Given the description of an element on the screen output the (x, y) to click on. 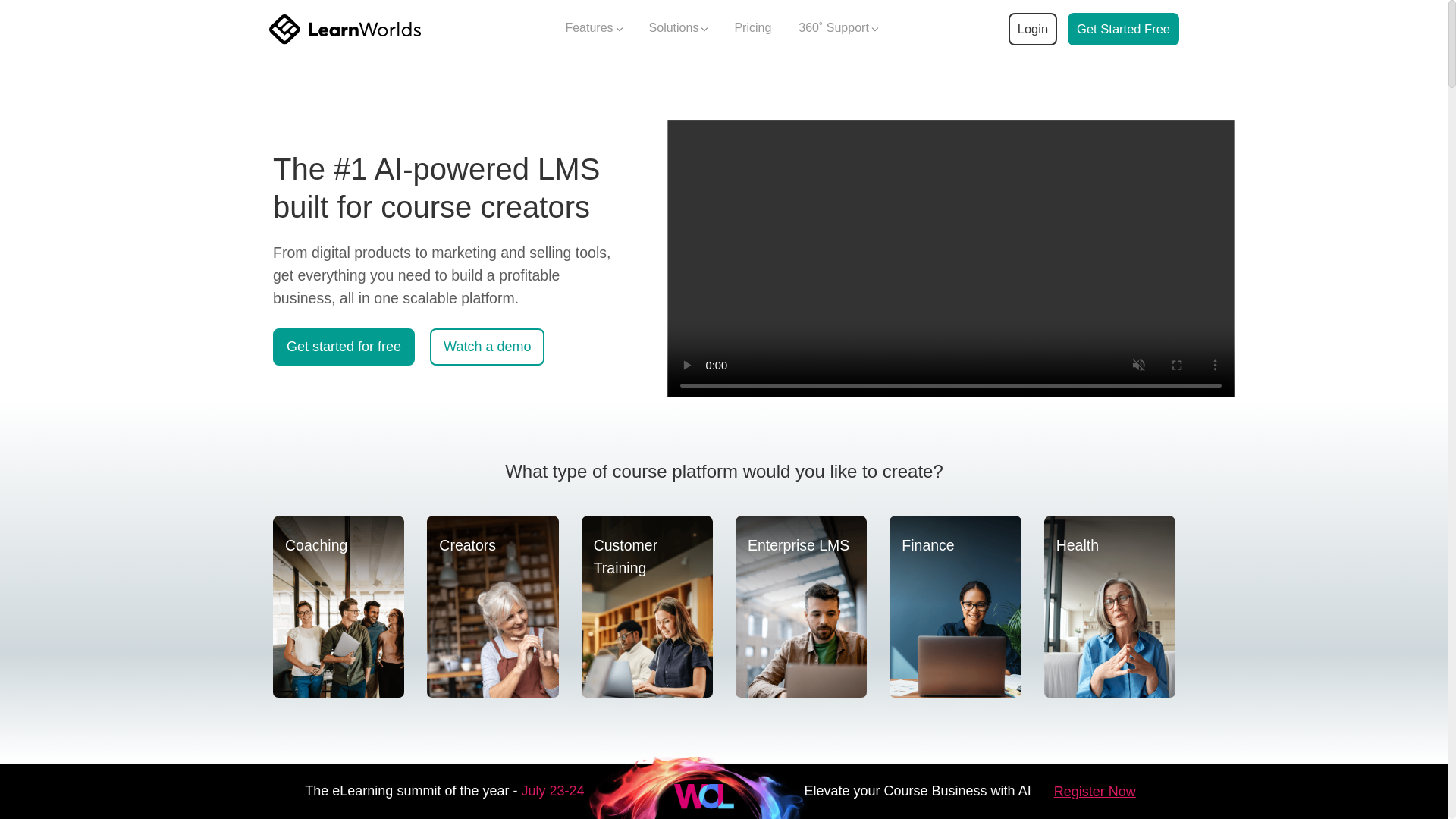
Login to your LearnWorlds account (1032, 29)
Features (592, 29)
LearnWorlds home (344, 28)
Start your demo with LearnWorlds (1123, 29)
